Given the description of an element on the screen output the (x, y) to click on. 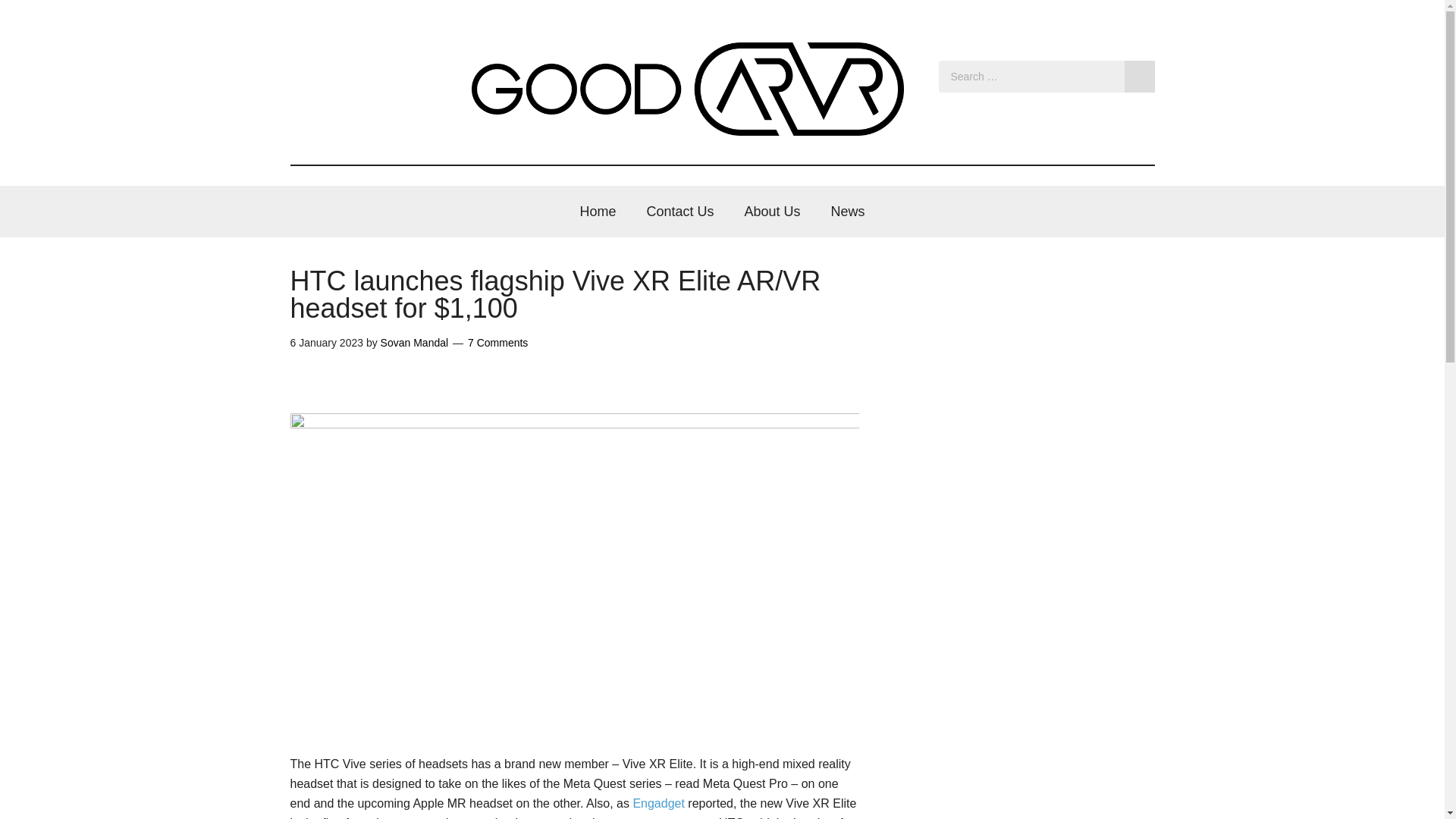
7 Comments (497, 342)
Contact Us (679, 211)
Engadget (657, 802)
Sovan Mandal (414, 342)
News (847, 211)
Home (597, 211)
About Us (772, 211)
Search for: (1046, 76)
